Given the description of an element on the screen output the (x, y) to click on. 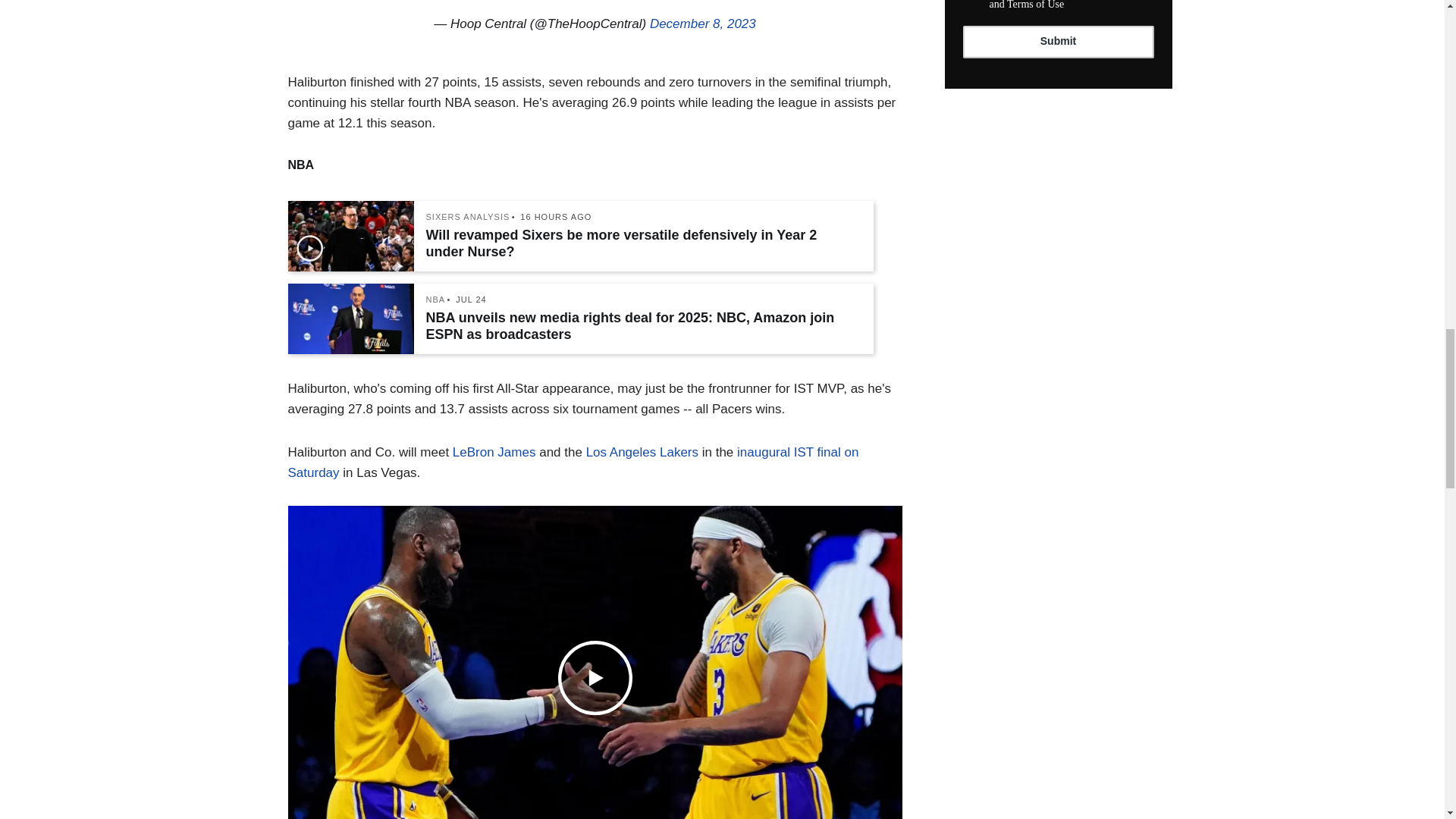
SIXERS ANALYSIS (468, 216)
December 8, 2023 (702, 23)
